Given the description of an element on the screen output the (x, y) to click on. 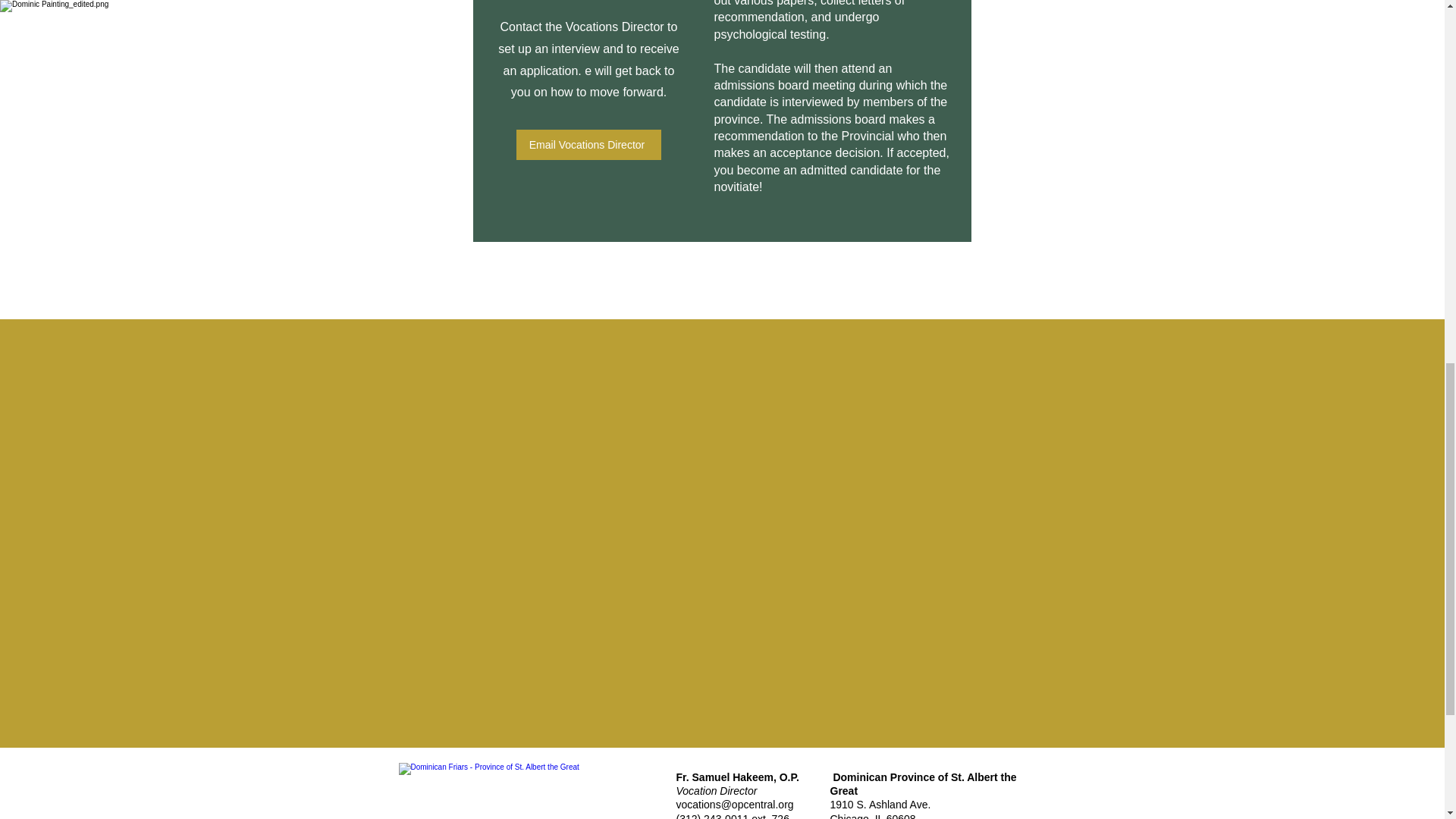
Email Vocations Director (881, 808)
